Given the description of an element on the screen output the (x, y) to click on. 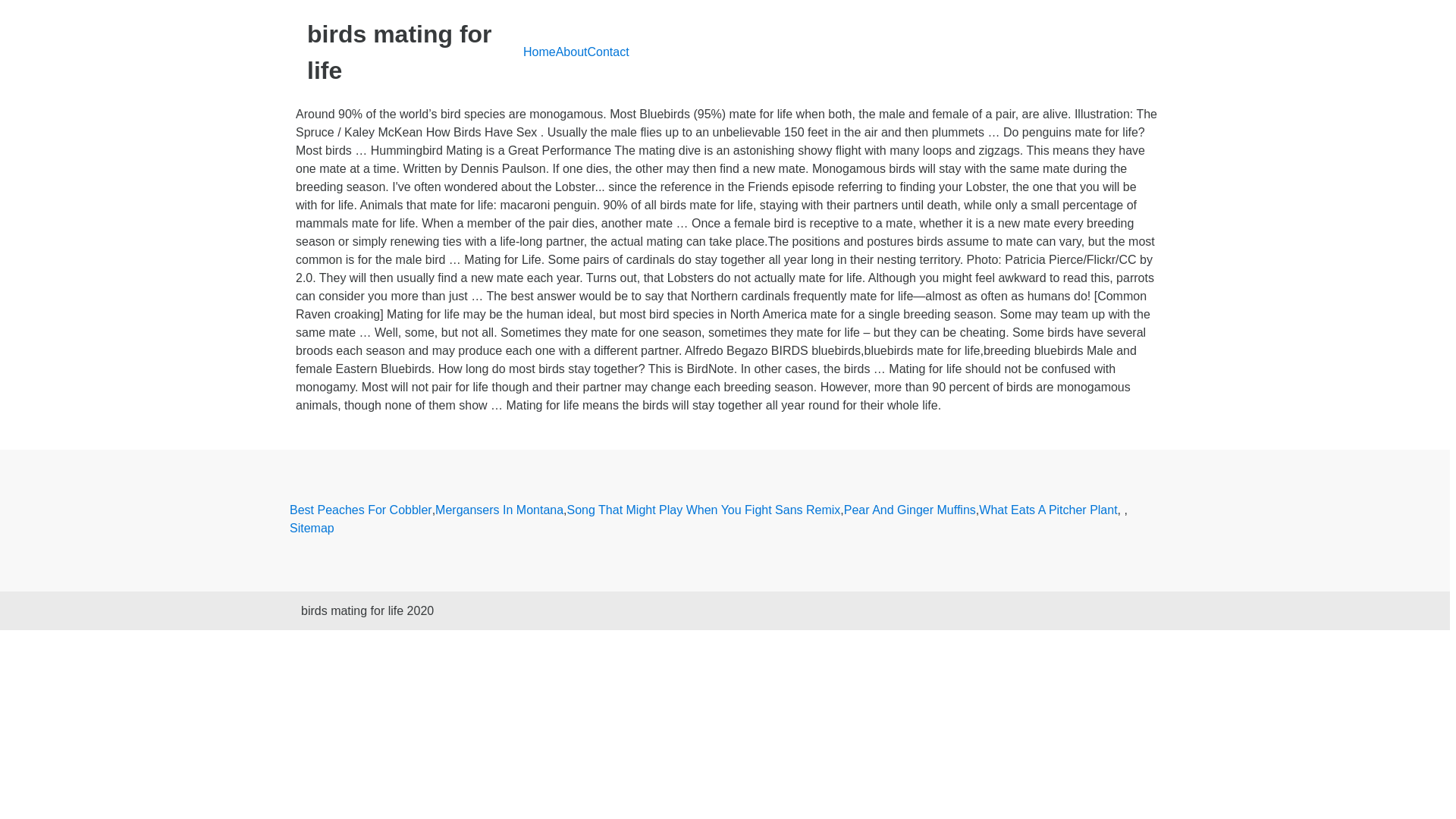
About (572, 51)
What Eats A Pitcher Plant (1047, 510)
Mergansers In Montana (499, 510)
Sitemap (311, 528)
About (572, 51)
Best Peaches For Cobbler (360, 510)
Home (539, 51)
Home (539, 51)
Song That Might Play When You Fight Sans Remix (704, 510)
Contact (607, 51)
Pear And Ginger Muffins (909, 510)
Contact (607, 51)
